Given the description of an element on the screen output the (x, y) to click on. 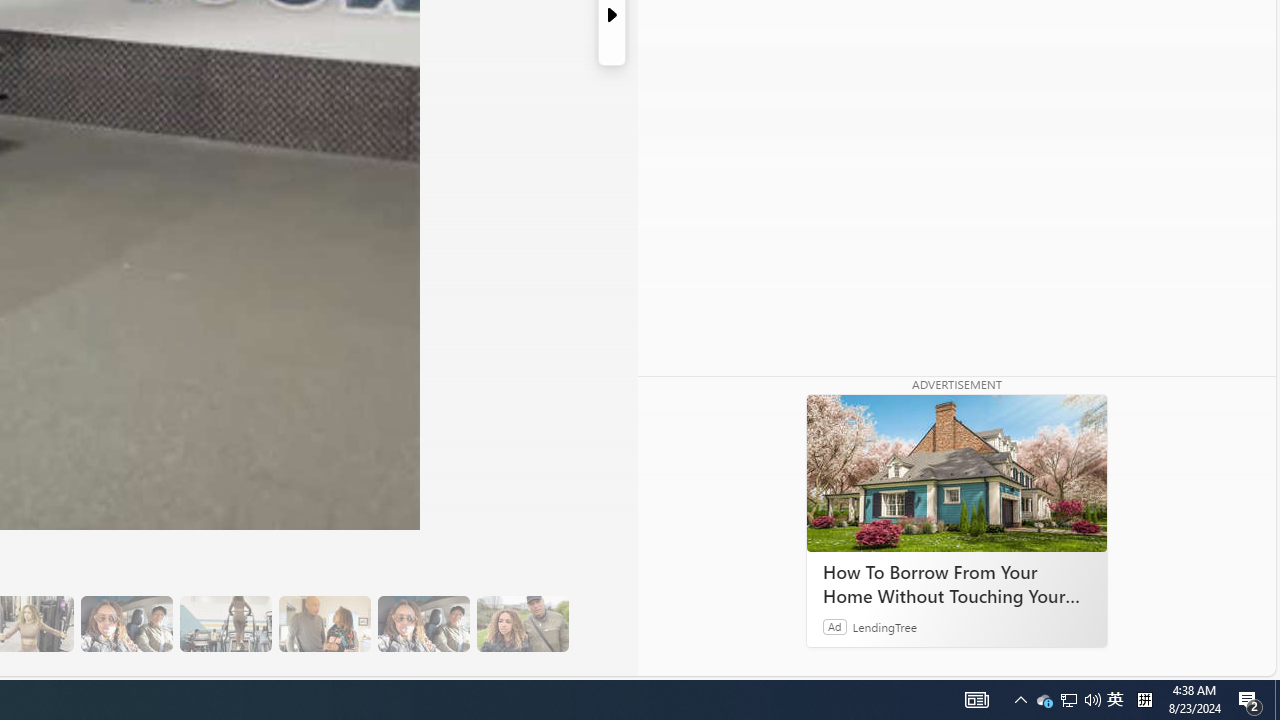
19 It Also Simplifies Thiings (423, 624)
18 It's More Fun Doing It with Someone Else (324, 624)
16 The Couple's Program Helps with Accountability (125, 624)
20 Overall, It Will Improve Your Health (522, 624)
18 It's More Fun Doing It with Someone Else (324, 624)
16 The Couple's Program Helps with Accountability (125, 624)
19 It Also Simplifies Thiings (423, 624)
LendingTree (884, 626)
